Given the description of an element on the screen output the (x, y) to click on. 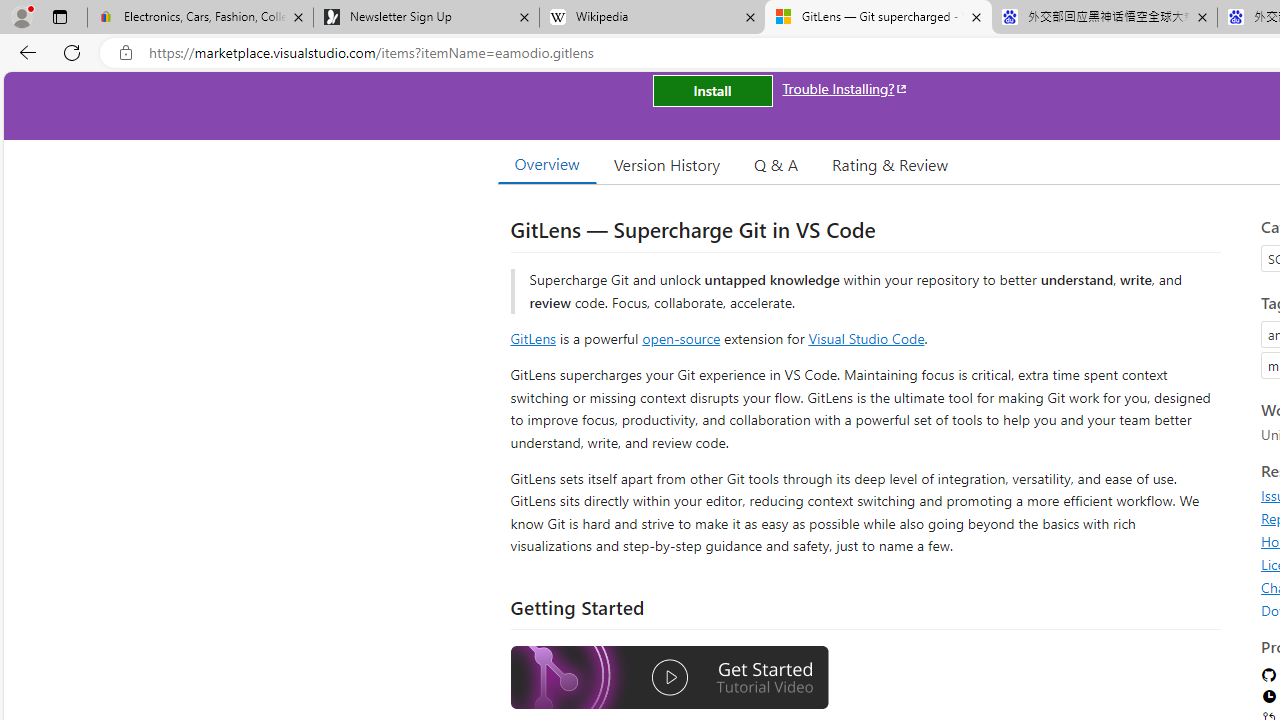
GitLens (532, 337)
Watch the GitLens Getting Started video (669, 679)
Visual Studio Code (866, 337)
Wikipedia (652, 17)
Watch the GitLens Getting Started video (669, 678)
Version History (667, 164)
Install (712, 90)
